Given the description of an element on the screen output the (x, y) to click on. 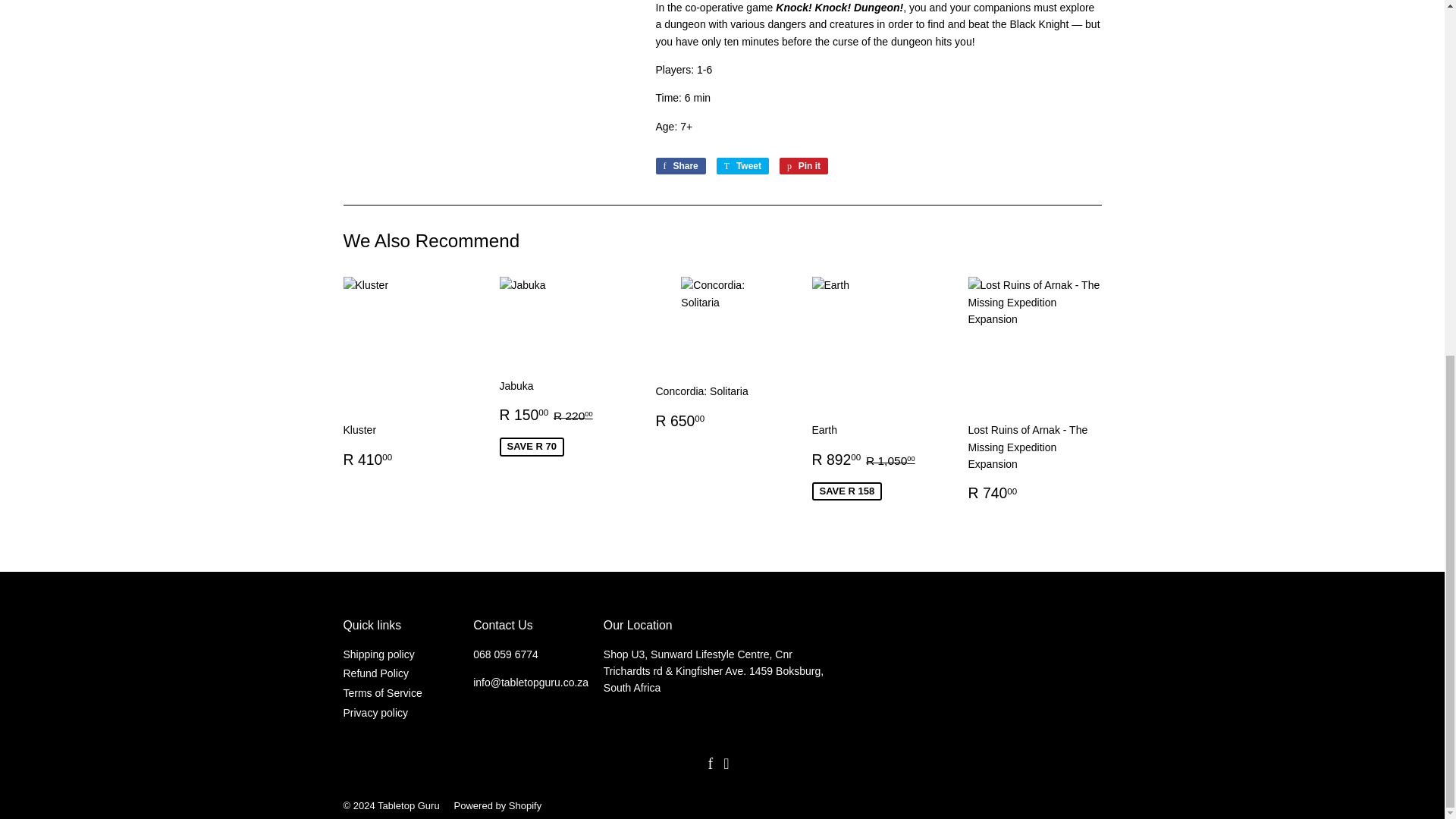
Share on Facebook (679, 166)
Pin on Pinterest (803, 166)
Tweet on Twitter (742, 166)
